Given the description of an element on the screen output the (x, y) to click on. 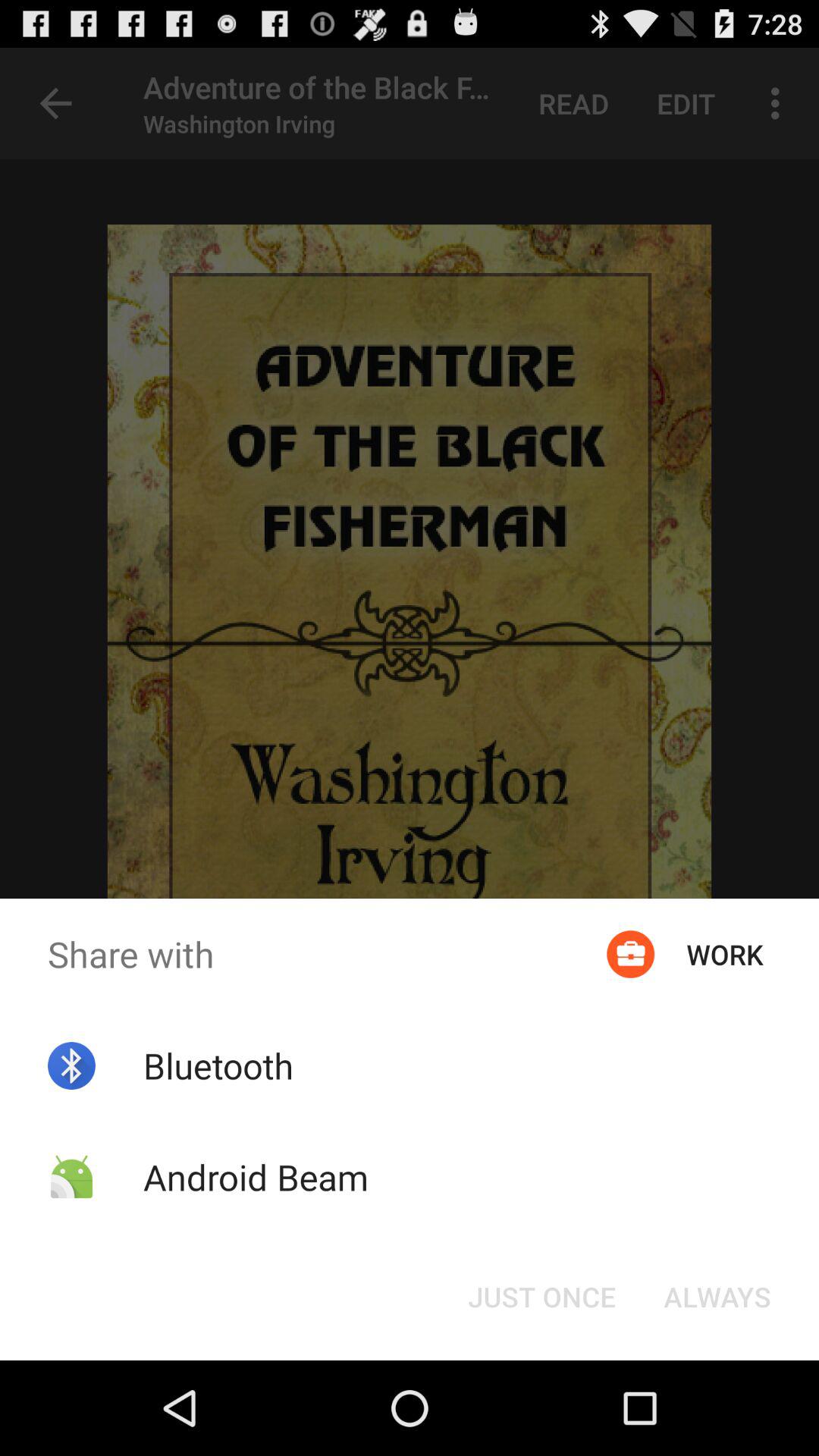
jump to the bluetooth (218, 1065)
